Given the description of an element on the screen output the (x, y) to click on. 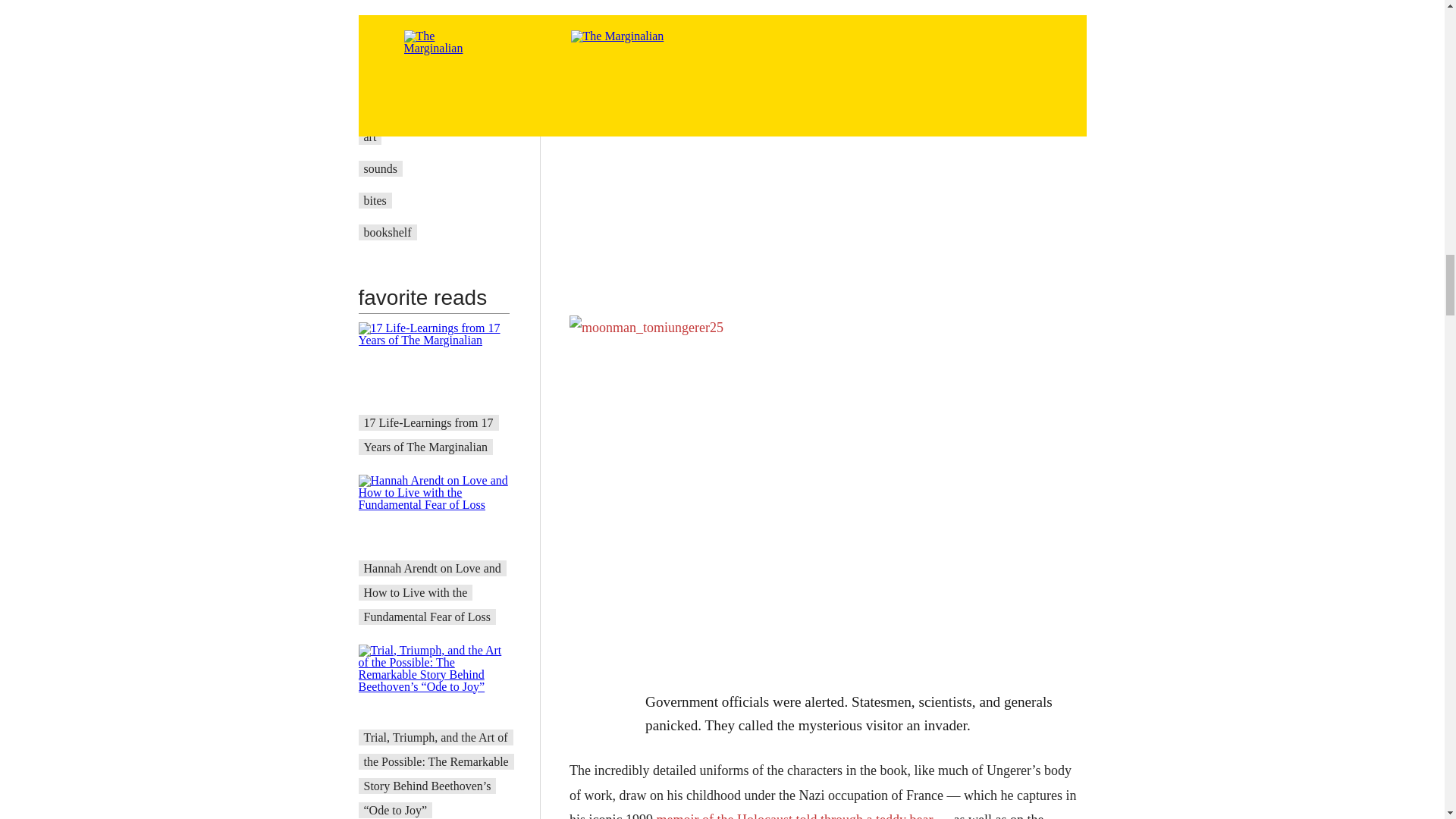
A Velocity of Being (412, 105)
bites (375, 200)
sounds (380, 168)
